Given the description of an element on the screen output the (x, y) to click on. 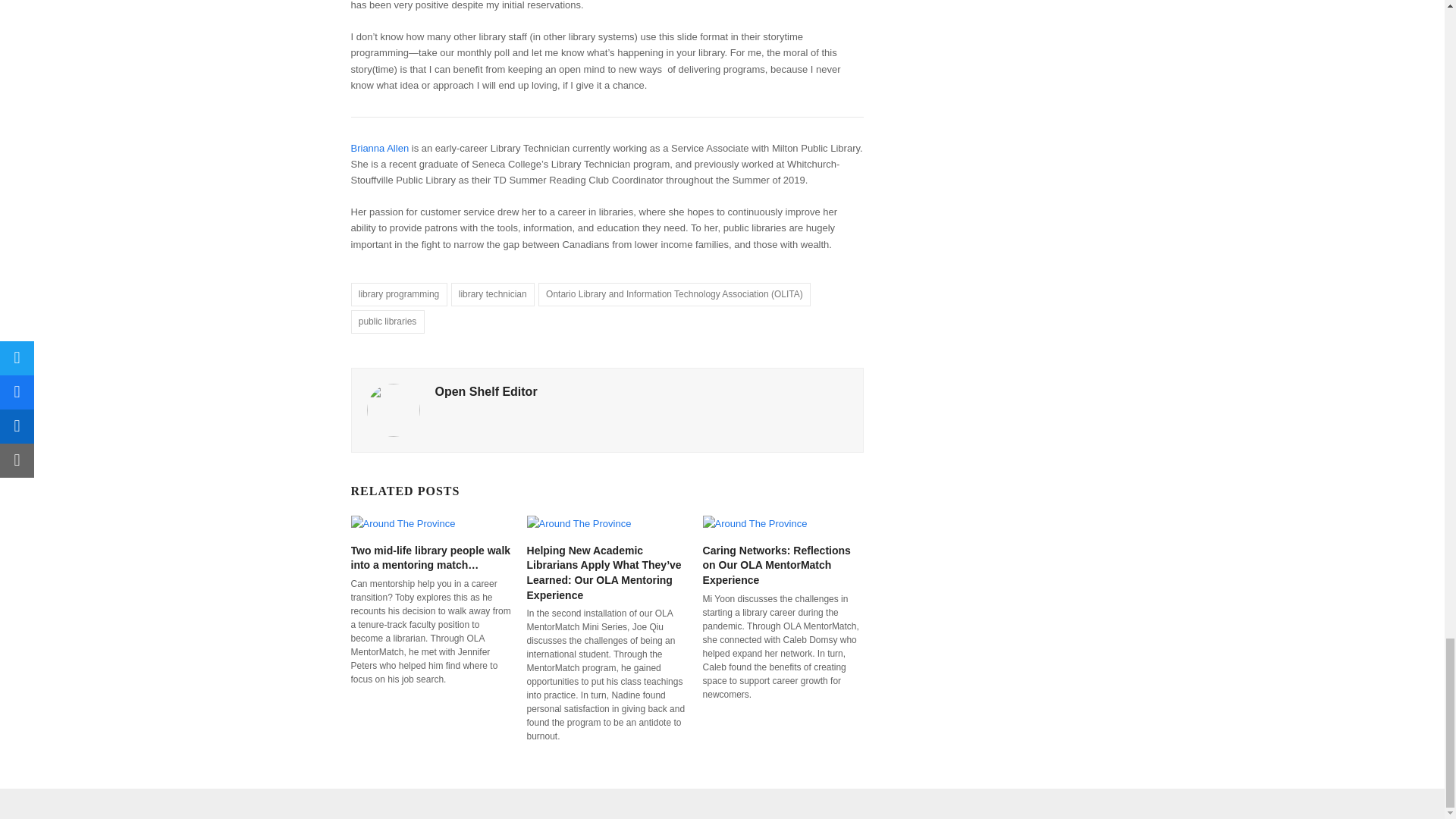
Visit Author Page (486, 391)
Visit Author Page (393, 409)
